Given the description of an element on the screen output the (x, y) to click on. 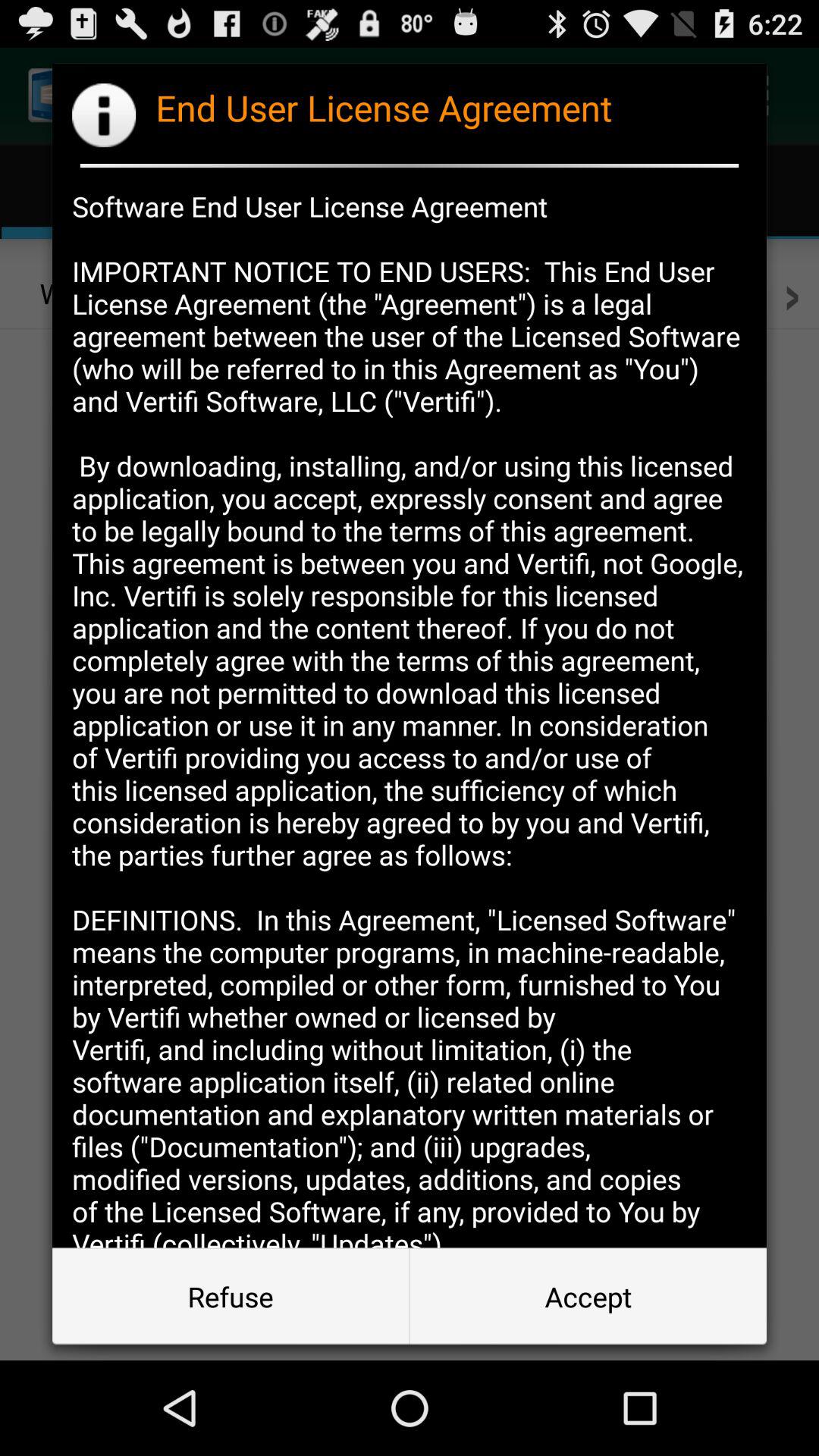
select the item next to accept item (230, 1296)
